Given the description of an element on the screen output the (x, y) to click on. 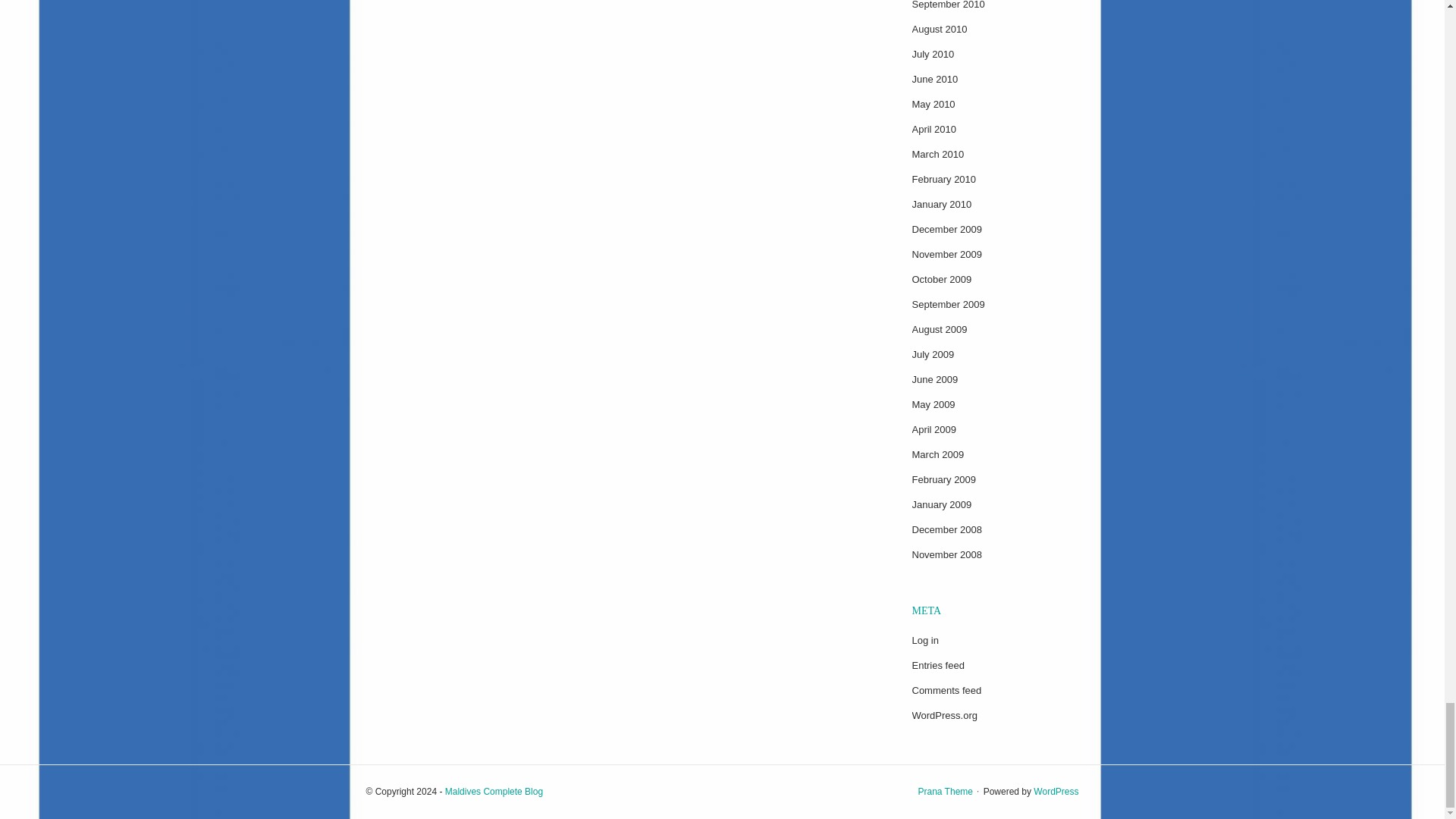
WordPress (1055, 791)
Prana Theme (944, 791)
